Given the description of an element on the screen output the (x, y) to click on. 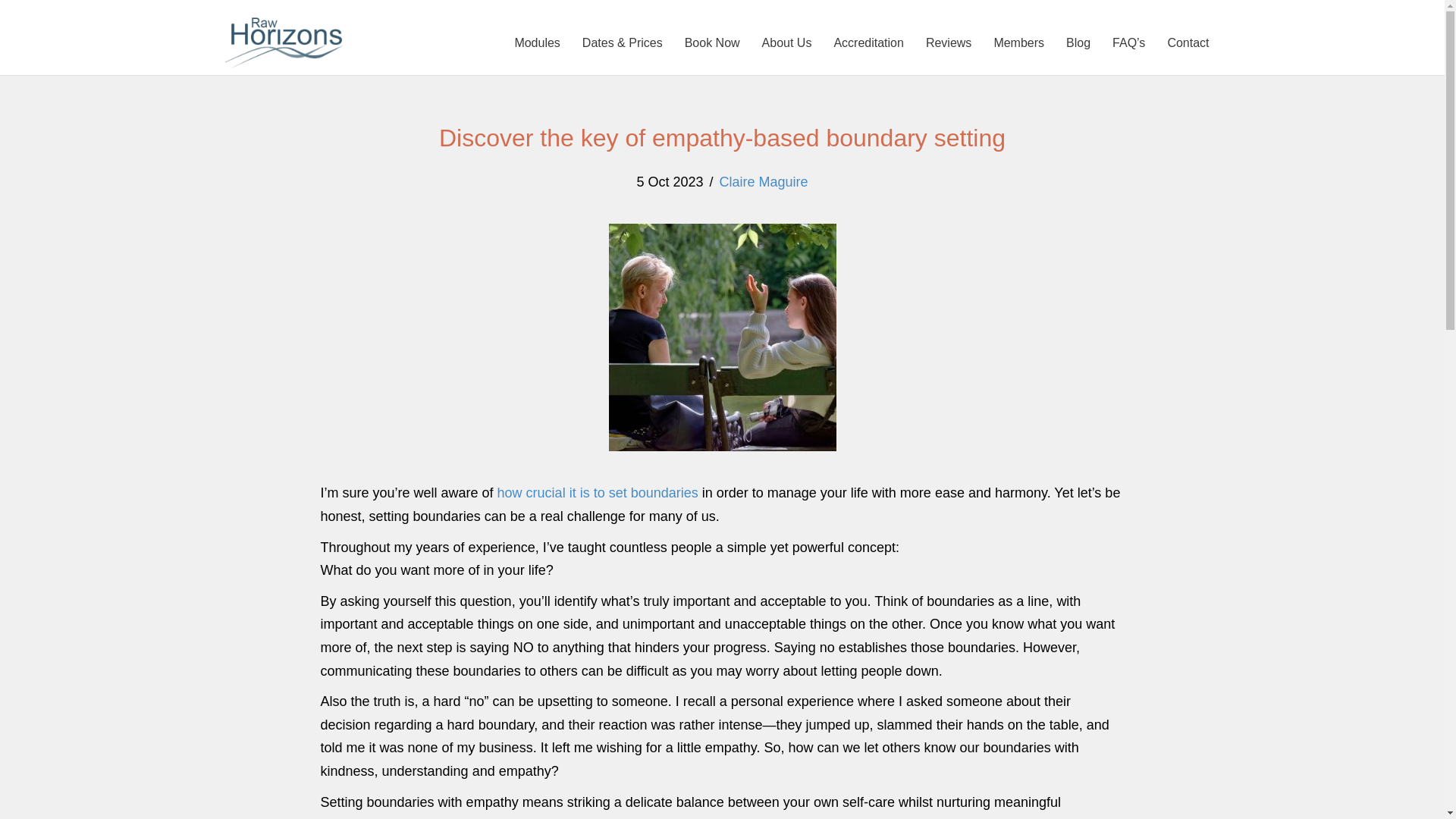
Contact (1188, 42)
Claire Maguire (763, 181)
Blog (1077, 42)
Book Now (712, 42)
Raw Horizons (285, 41)
Modules (536, 42)
Members (1018, 42)
how crucial it is to set boundaries (597, 492)
About Us (786, 42)
Reviews (948, 42)
